Given the description of an element on the screen output the (x, y) to click on. 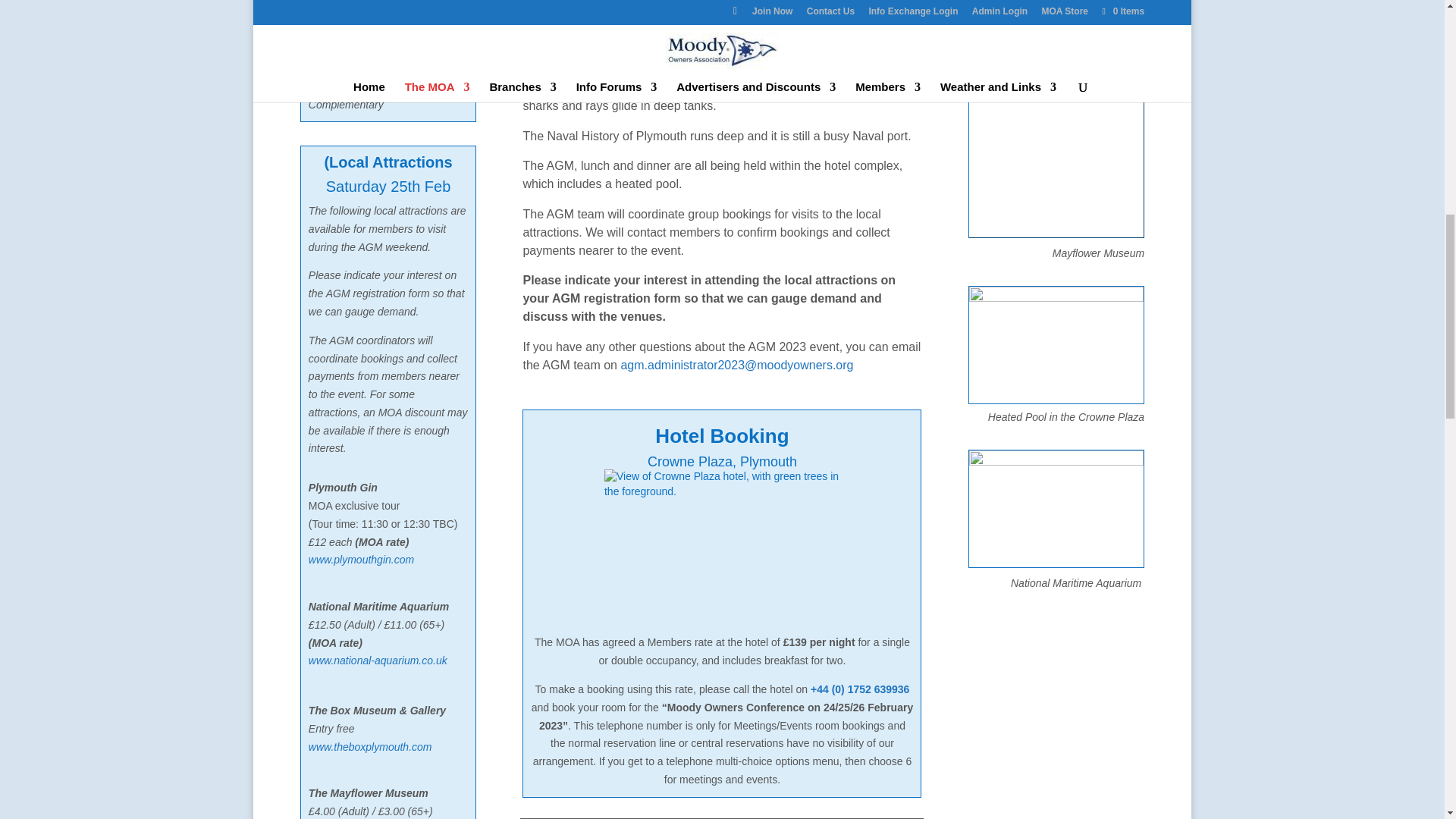
NationalMaritimeAquarium (1055, 508)
Crowne Plaza Plymouth Pool (1055, 344)
Link to National Aquarium website (377, 660)
Link to The Box, Plymouth website (370, 746)
Link to Plymouth Gin website (360, 559)
